Given the description of an element on the screen output the (x, y) to click on. 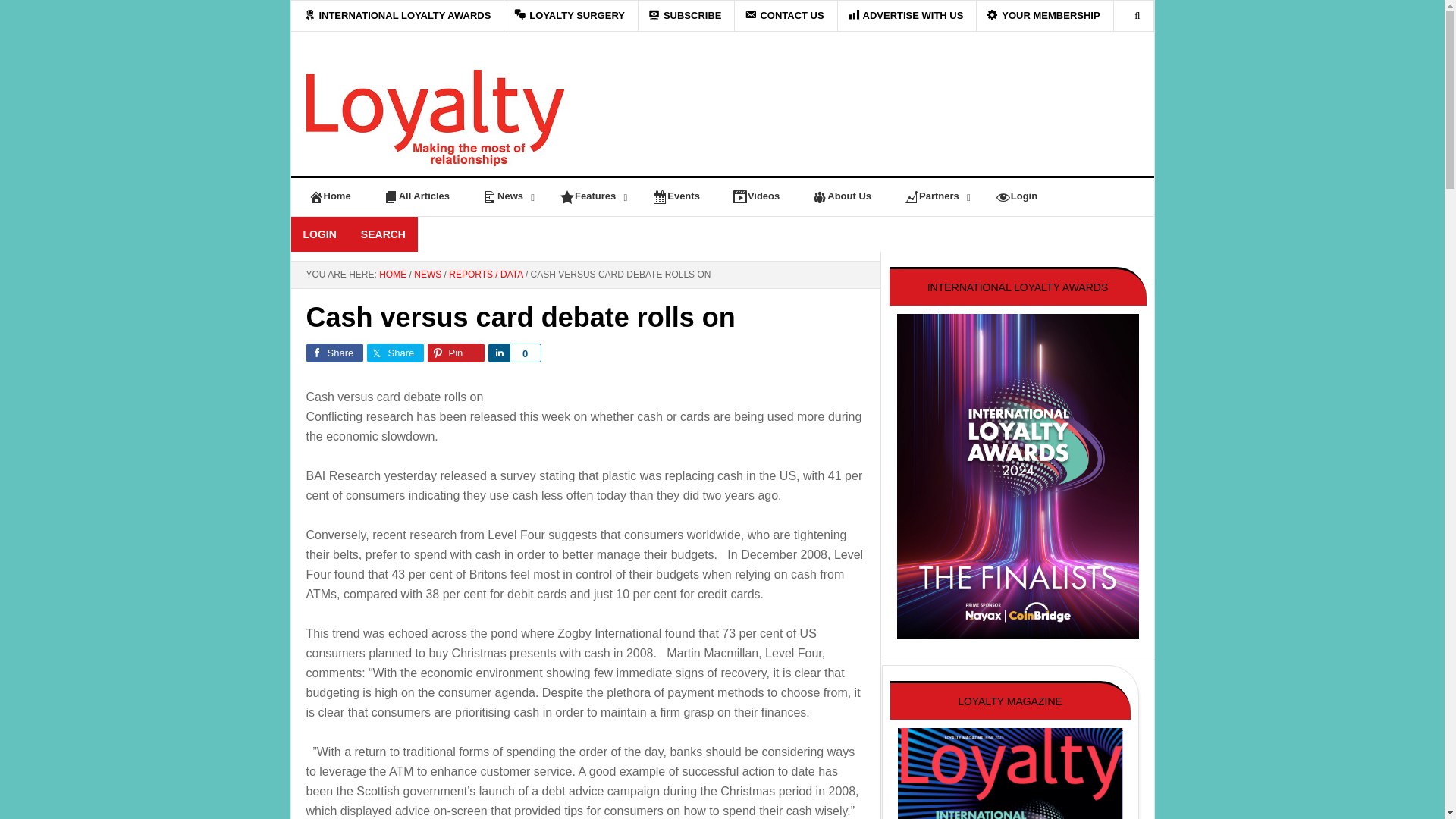
All Articles (416, 196)
Home (328, 196)
News (504, 196)
LOYALTY MAGAZINE (434, 122)
LOYALTY SURGERY (569, 15)
SUBSCRIBE (684, 15)
INTERNATIONAL LOYALTY AWARDS (398, 15)
YOUR MEMBERSHIP (1043, 15)
CONTACT US (784, 15)
ADVERTISE WITH US (905, 15)
